Given the description of an element on the screen output the (x, y) to click on. 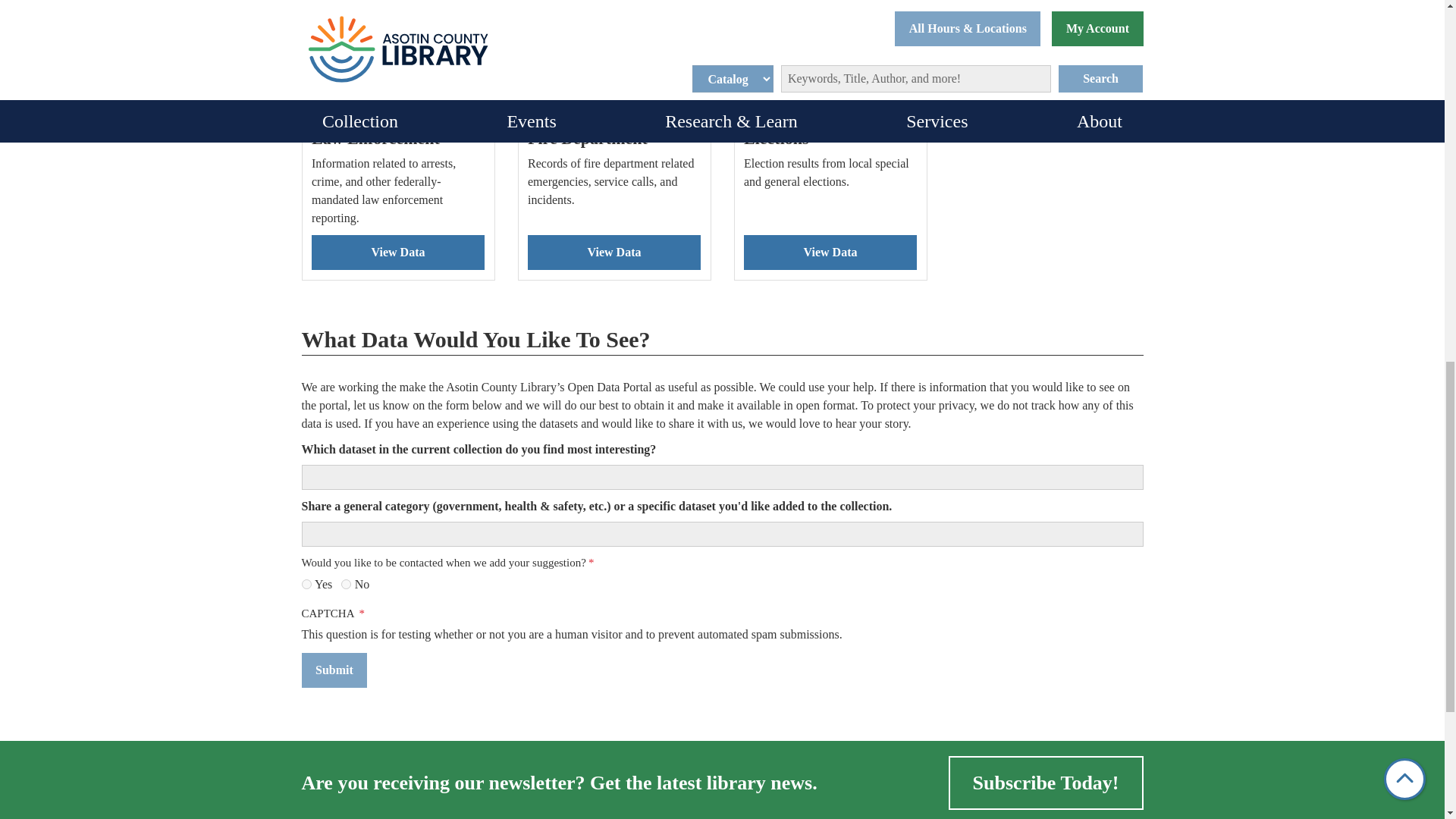
No (345, 583)
Yes (306, 583)
Submit (334, 669)
